Given the description of an element on the screen output the (x, y) to click on. 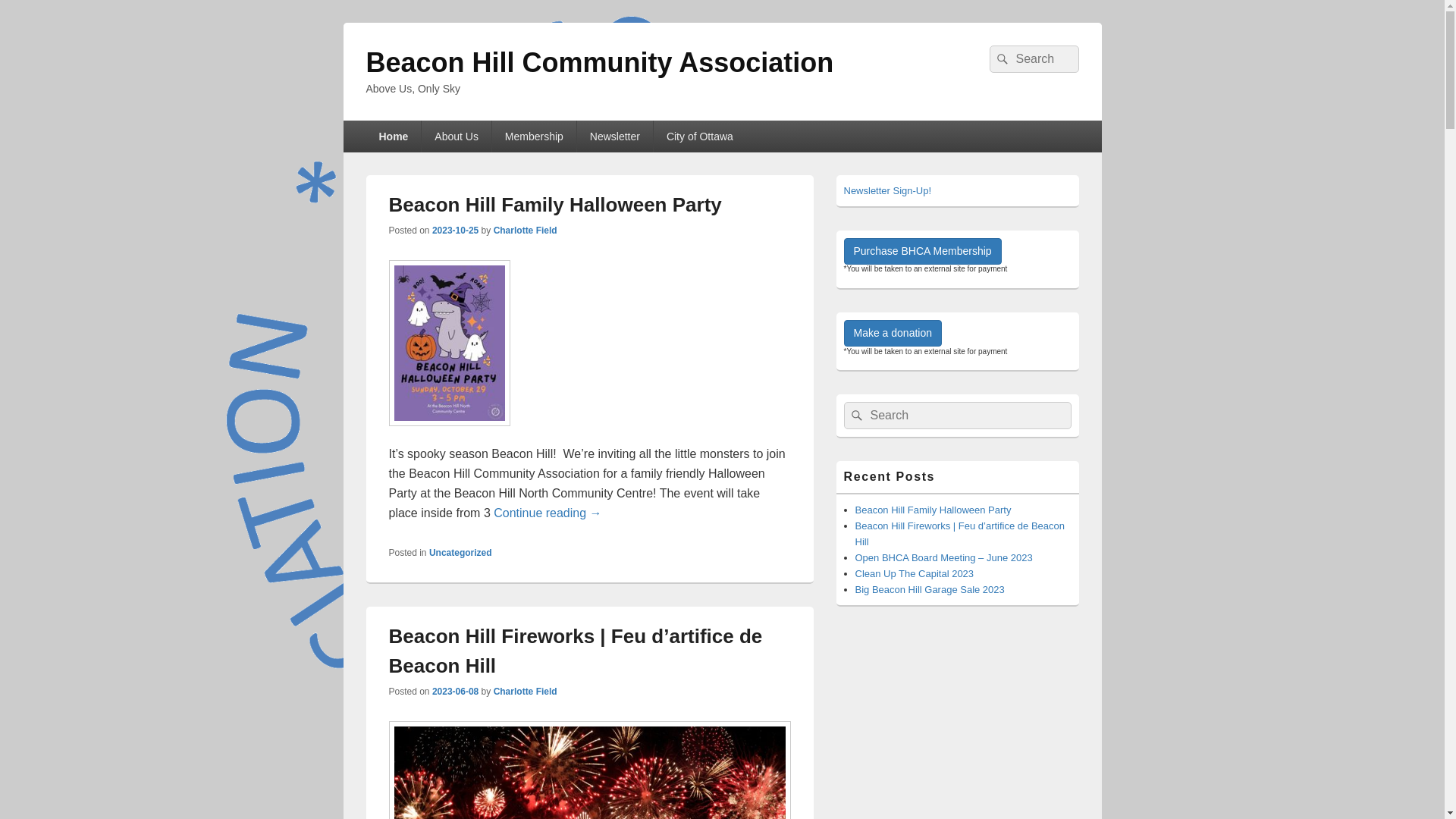
Newsletter Element type: text (614, 136)
2023-06-08 Element type: text (455, 691)
Search for: Element type: hover (956, 415)
About Us Element type: text (456, 136)
City of Ottawa Element type: text (699, 136)
Beacon Hill Family Halloween Party Element type: text (933, 509)
Search for: Element type: hover (1033, 58)
Search Element type: text (999, 58)
Beacon Hill Family Halloween Party Element type: text (554, 204)
Home Element type: text (392, 136)
Purchase BHCA Membership Element type: text (922, 251)
Search Element type: text (854, 415)
Beacon Hill Community Association Element type: text (599, 62)
Big Beacon Hill Garage Sale 2023 Element type: text (929, 589)
Clean Up The Capital 2023 Element type: text (914, 573)
Charlotte Field Element type: text (525, 691)
Membership Element type: text (534, 136)
Make a donation Element type: text (892, 333)
Charlotte Field Element type: text (525, 230)
Uncategorized Element type: text (460, 552)
Permalink to Beacon Hill Family Halloween Party Element type: hover (448, 433)
2023-10-25 Element type: text (455, 230)
Newsletter Sign-Up! Element type: text (887, 190)
